Given the description of an element on the screen output the (x, y) to click on. 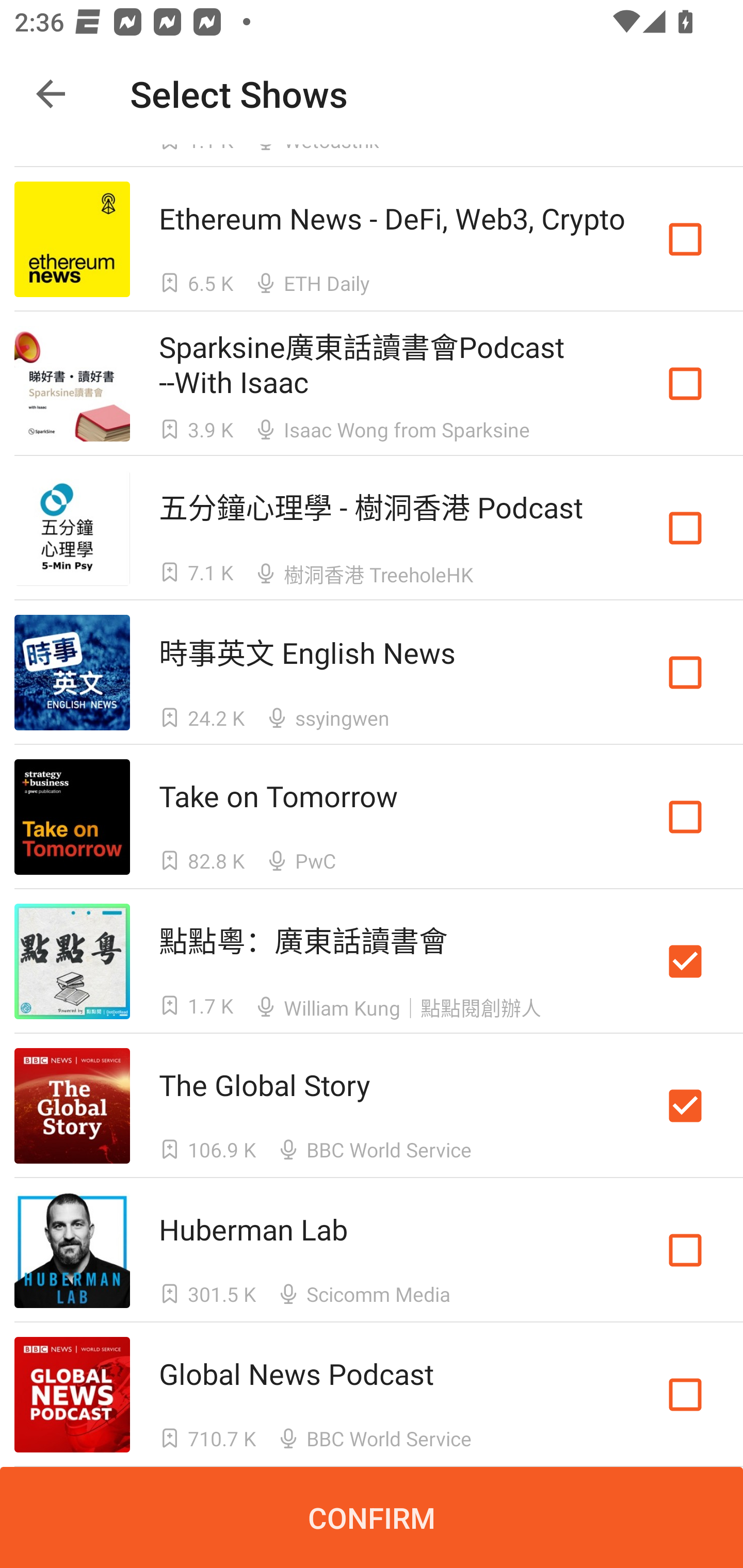
Navigate up (50, 93)
Take on Tomorrow Take on Tomorrow  82.8 K  PwC (371, 816)
CONFIRM (371, 1517)
